Given the description of an element on the screen output the (x, y) to click on. 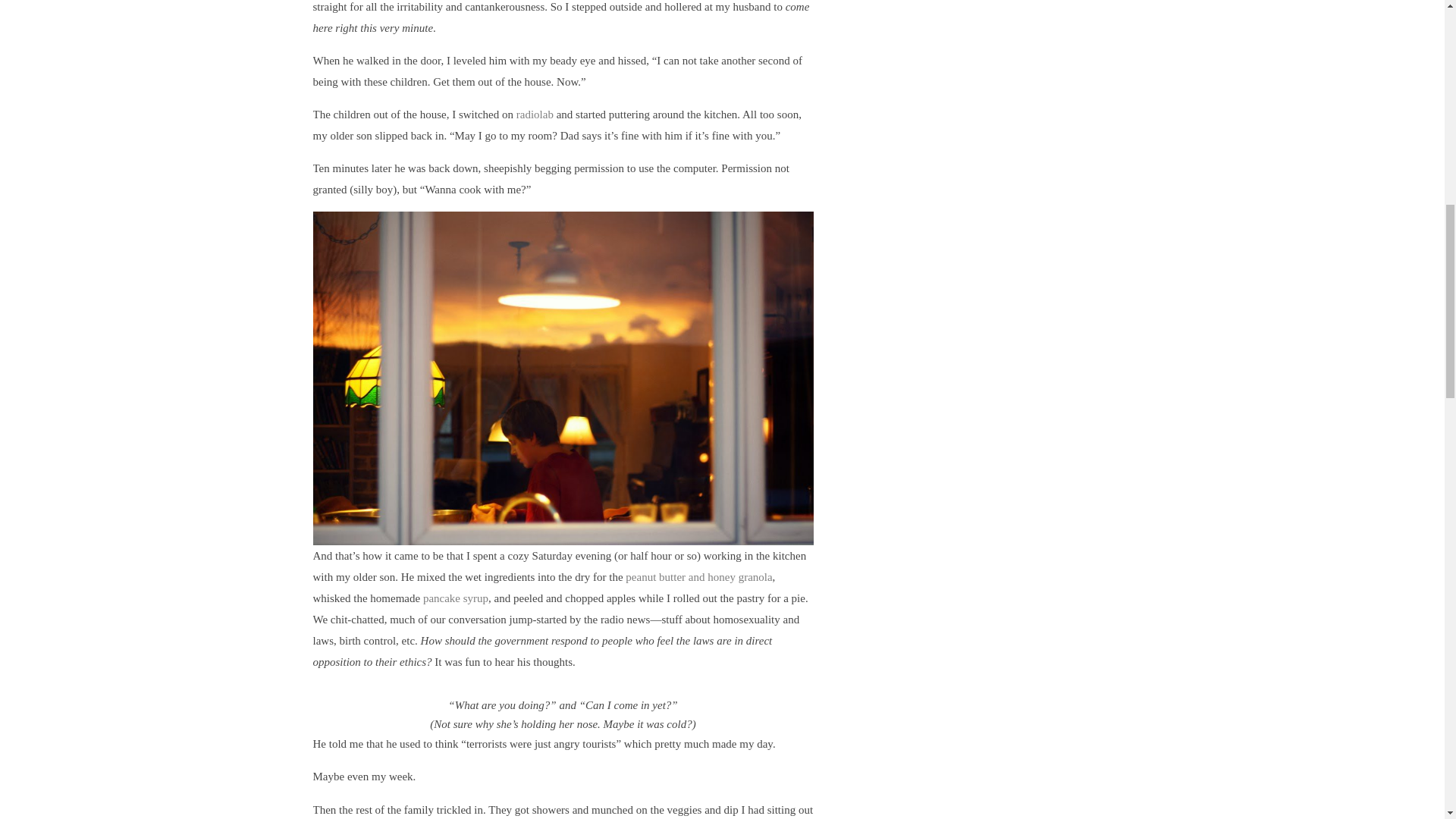
radiolab (534, 114)
pancake syrup (455, 598)
peanut butter and honey granola (698, 576)
